Given the description of an element on the screen output the (x, y) to click on. 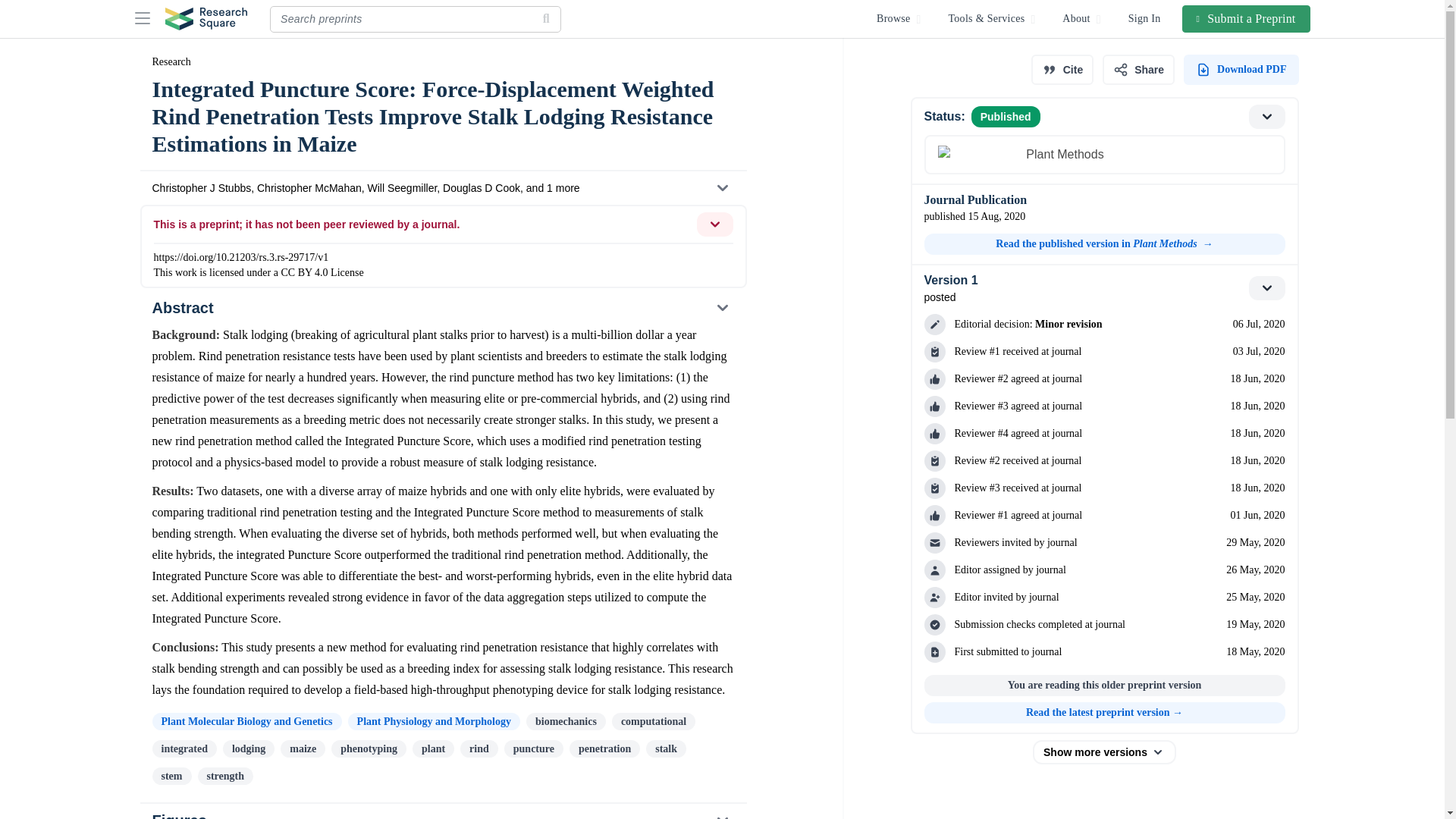
Figures (442, 811)
Submit a Preprint (1246, 18)
Sign In (1144, 18)
Abstract (442, 307)
Plant Molecular Biology and Genetics (245, 721)
Plant Physiology and Morphology (433, 721)
